Given the description of an element on the screen output the (x, y) to click on. 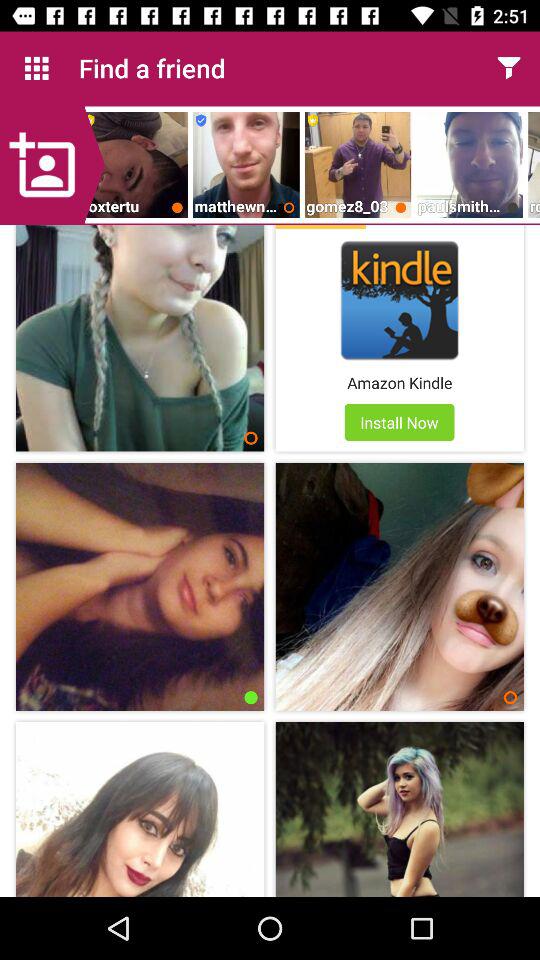
flip to the sponsored app (320, 227)
